Given the description of an element on the screen output the (x, y) to click on. 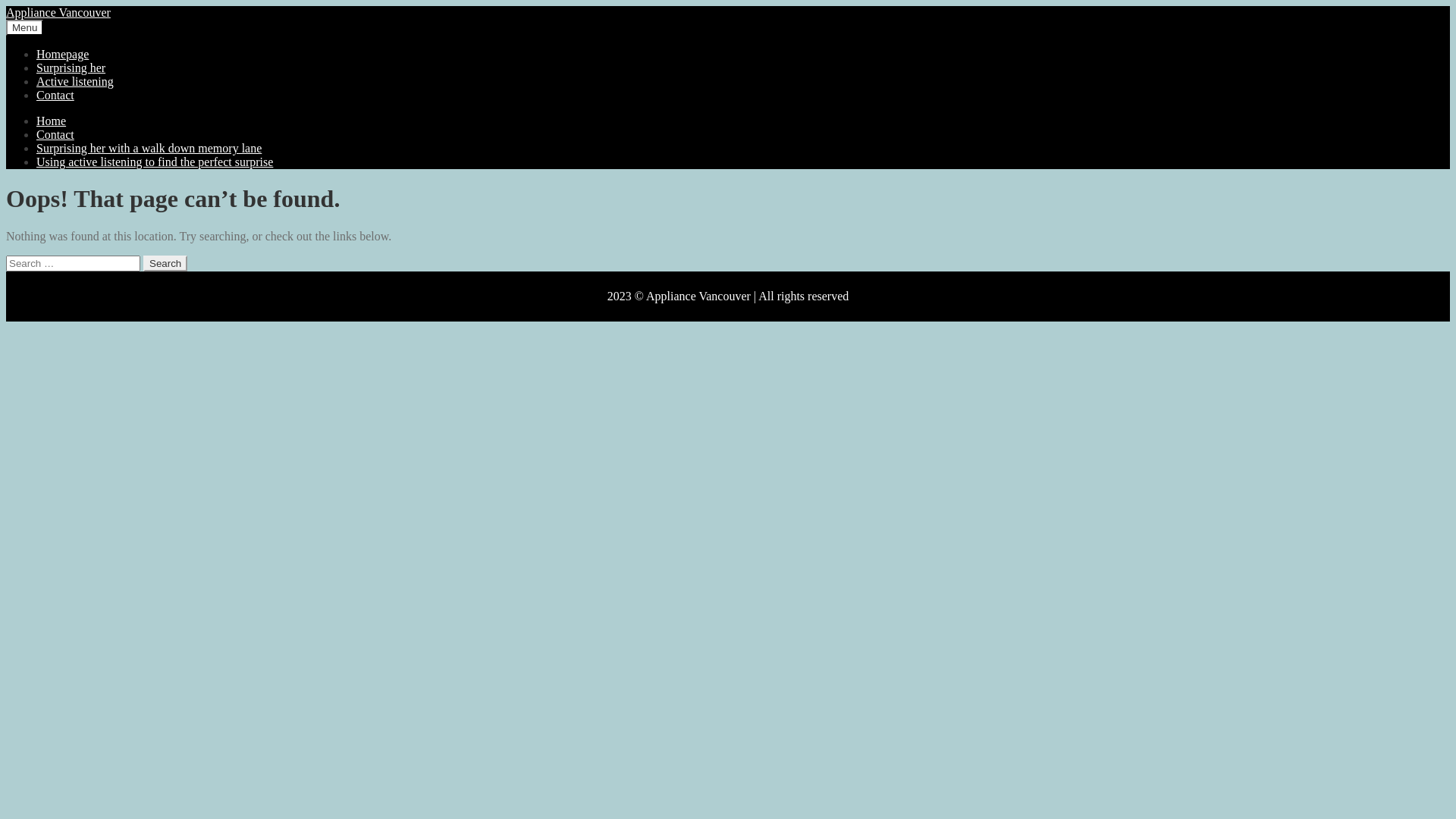
Menu Element type: text (24, 27)
Home Element type: text (50, 120)
Homepage Element type: text (62, 53)
Active listening Element type: text (74, 81)
Contact Element type: text (55, 94)
Surprising her Element type: text (70, 67)
Search Element type: text (165, 263)
Using active listening to find the perfect surprise Element type: text (154, 161)
Appliance Vancouver Element type: text (58, 12)
Skip to navigation Element type: text (5, 5)
Surprising her with a walk down memory lane Element type: text (148, 147)
Contact Element type: text (55, 134)
